Given the description of an element on the screen output the (x, y) to click on. 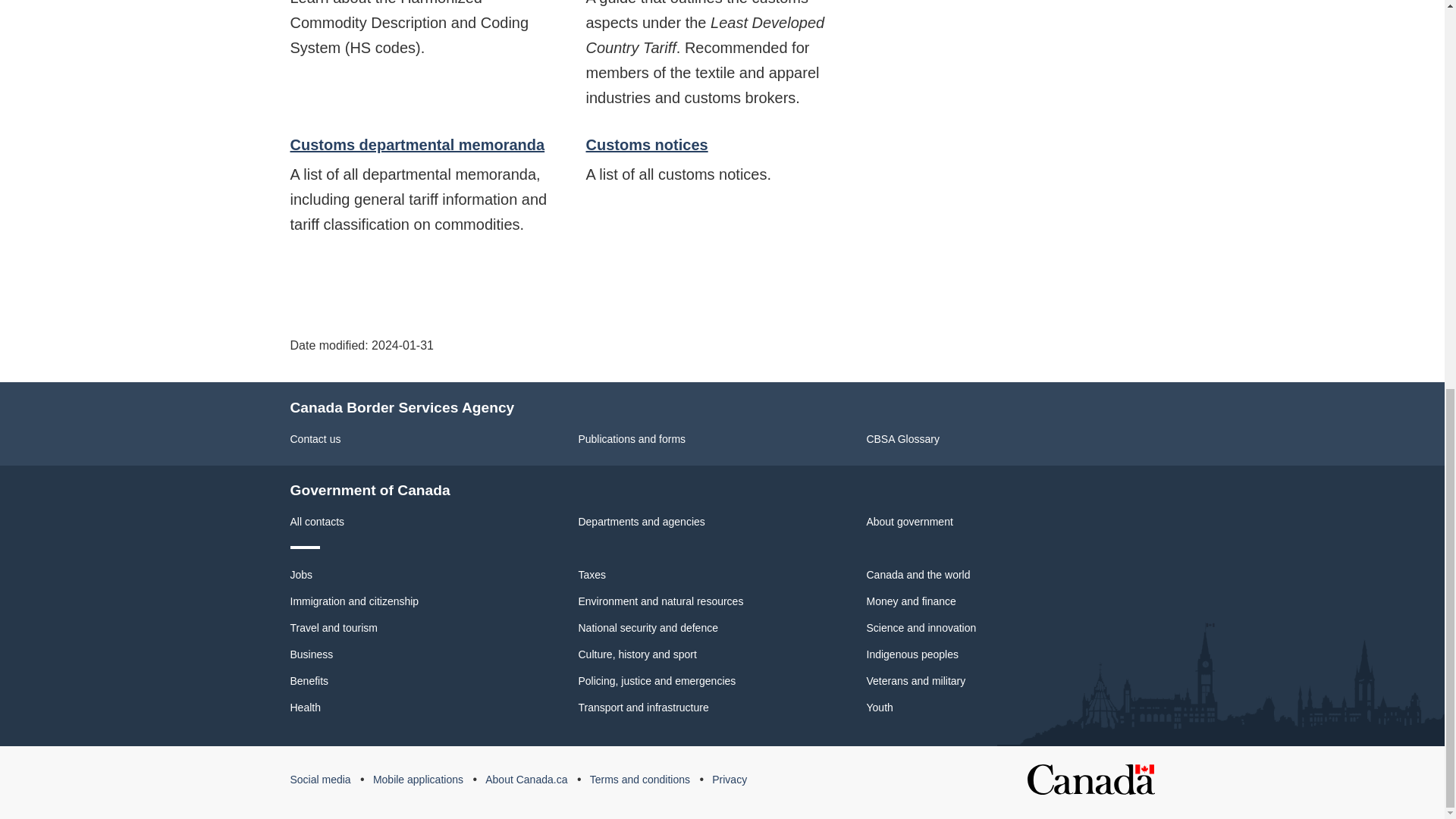
CBSA Glossary (902, 439)
Contact us (314, 439)
Departments and agencies (641, 521)
Customs departmental memoranda (416, 144)
All contacts (316, 521)
Publications and forms (631, 439)
Customs notices (646, 144)
